Given the description of an element on the screen output the (x, y) to click on. 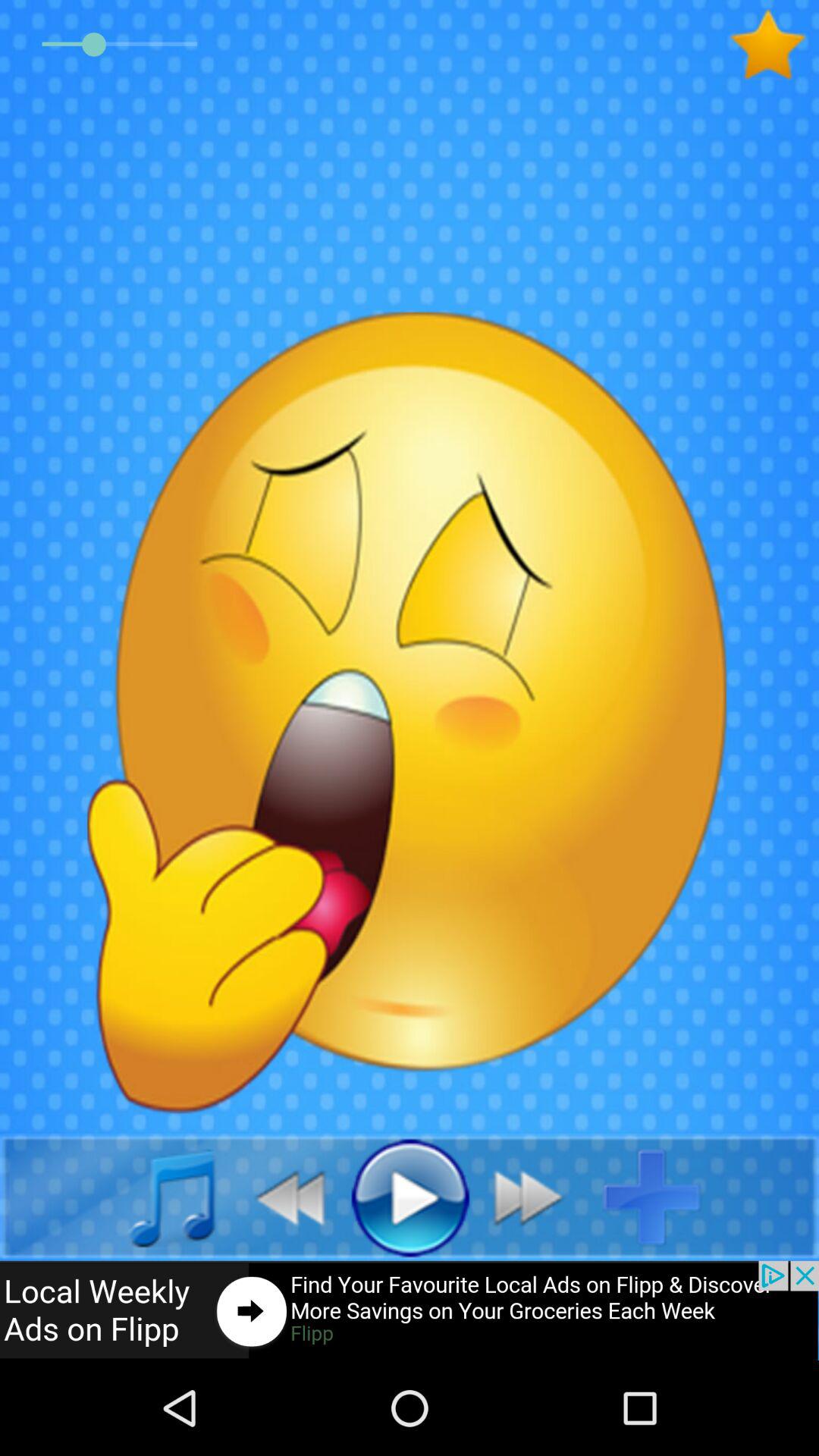
add to favorite (774, 44)
